Given the description of an element on the screen output the (x, y) to click on. 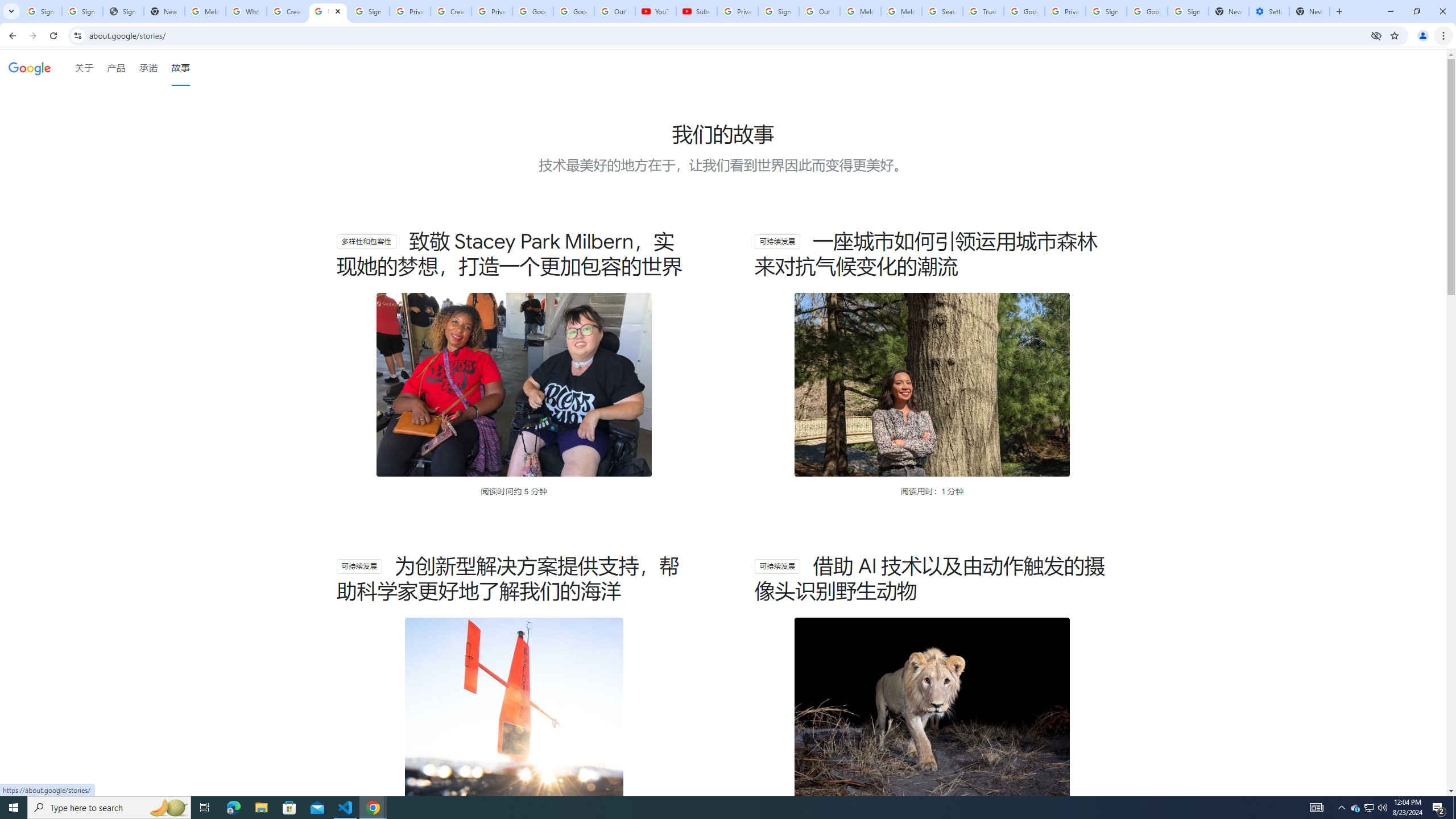
Create your Google Account (287, 11)
Sign in - Google Accounts (1187, 11)
